Given the description of an element on the screen output the (x, y) to click on. 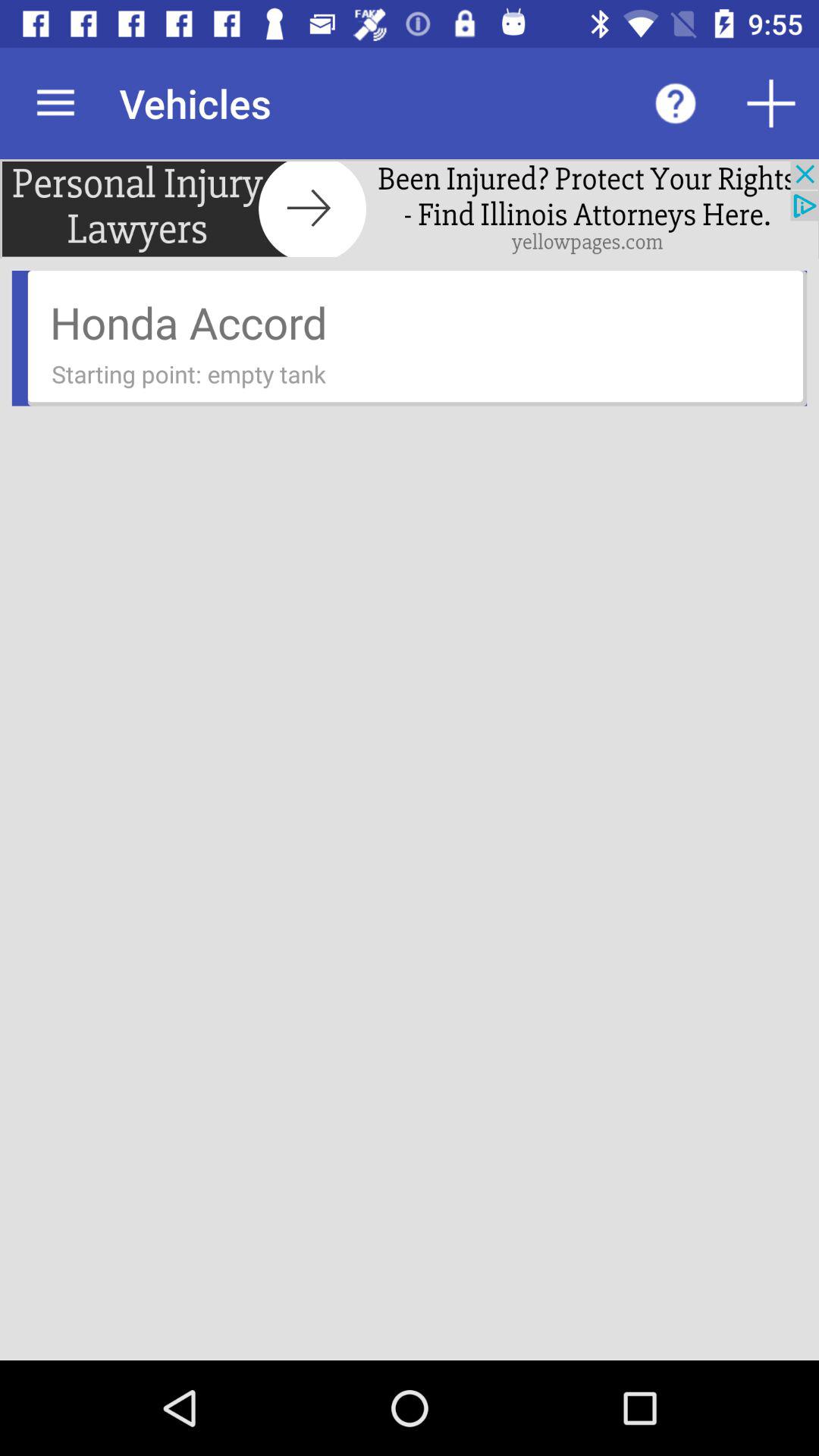
show help (675, 103)
